Given the description of an element on the screen output the (x, y) to click on. 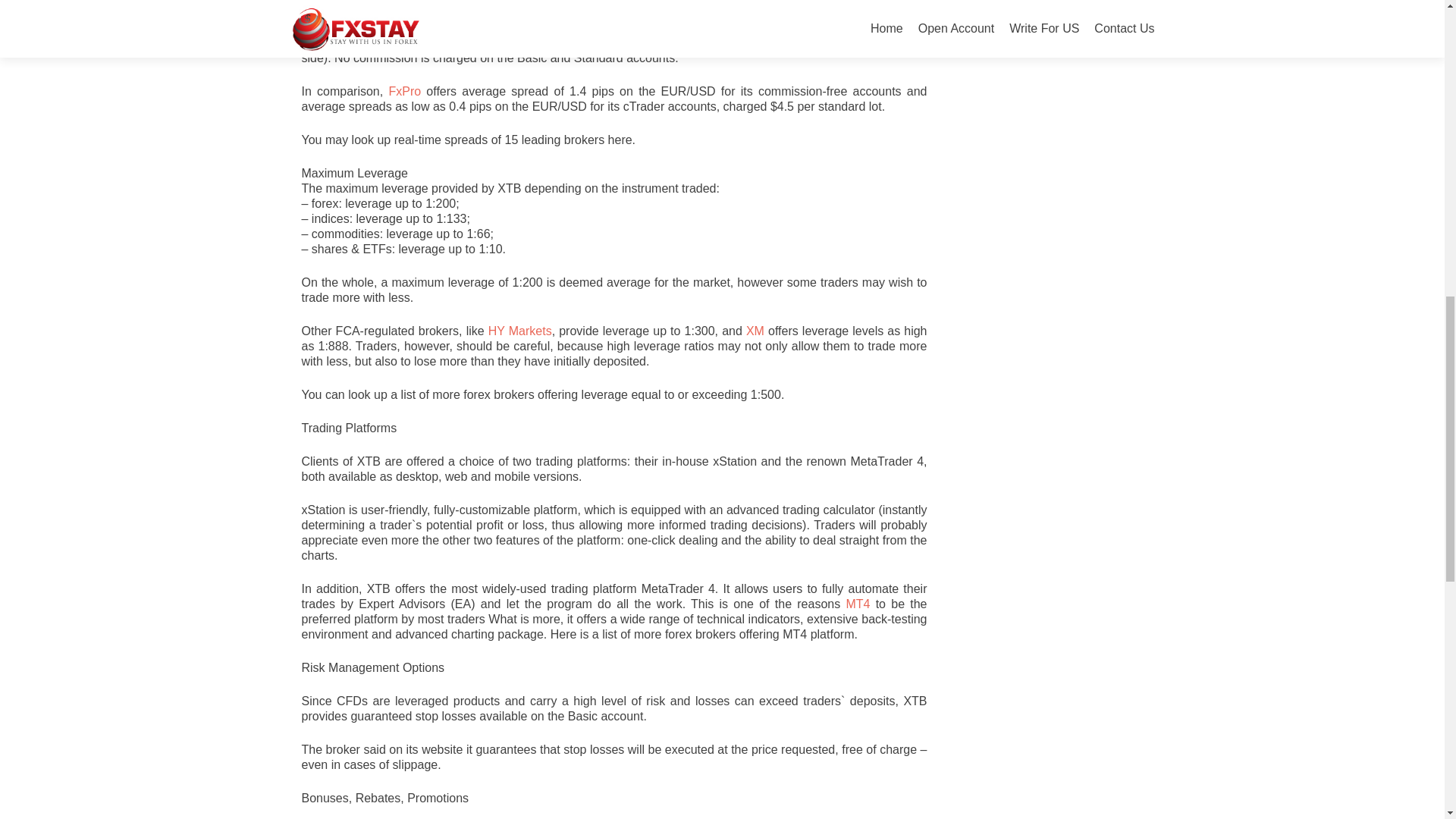
XM (754, 330)
HY Markets (519, 330)
FxPro (404, 91)
MT4 (857, 603)
